Given the description of an element on the screen output the (x, y) to click on. 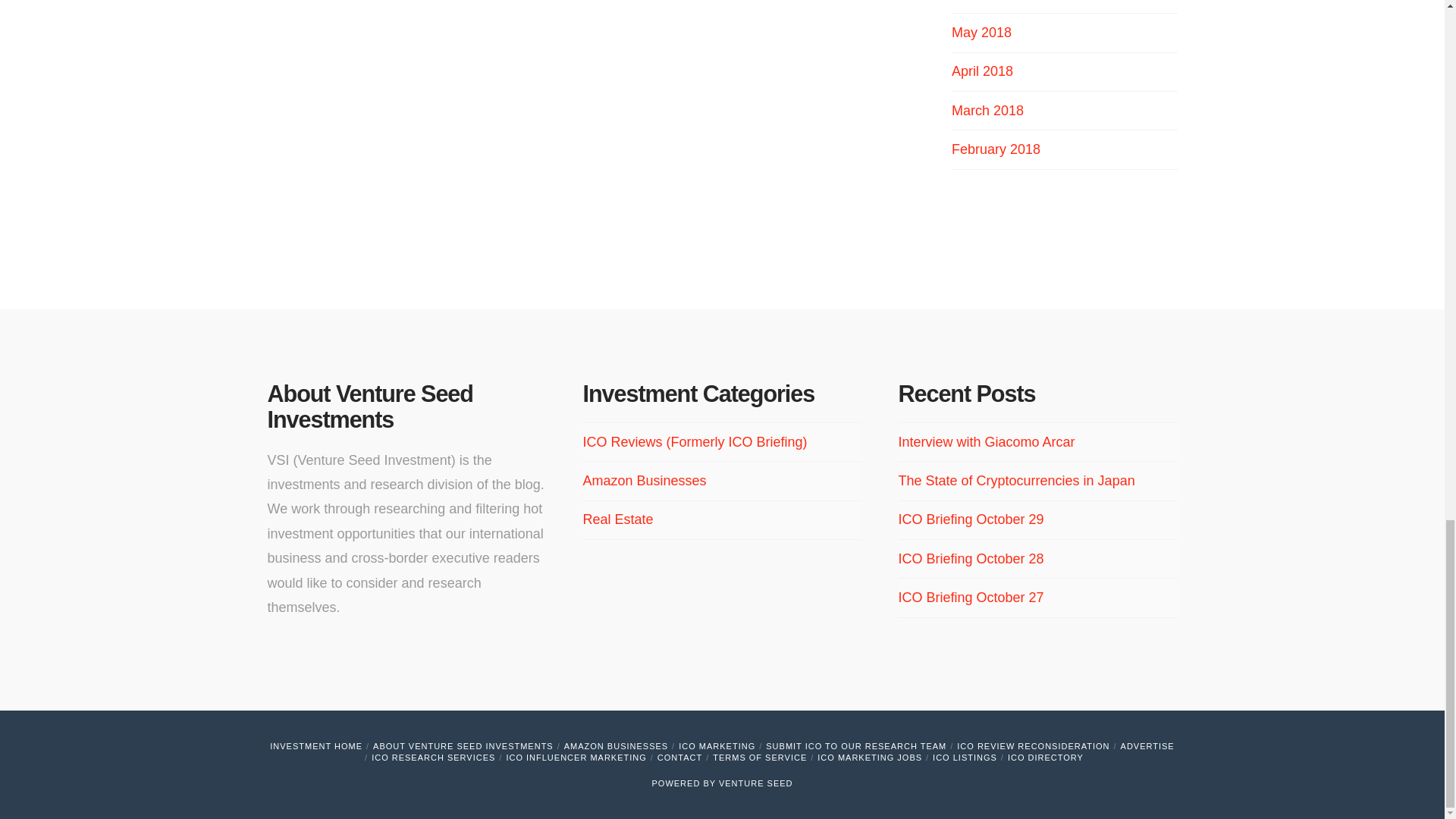
ICO Briefing October 28 (970, 558)
Real Estate (617, 519)
Venture Seed (756, 782)
Amazon Businesses (644, 480)
March 2018 (987, 110)
April 2018 (982, 70)
Interview with Giacomo Arcar (986, 441)
ICO Briefing October 29 (970, 519)
February 2018 (996, 149)
The State of Cryptocurrencies in Japan (1016, 480)
June 2018 (983, 0)
May 2018 (981, 32)
